Given the description of an element on the screen output the (x, y) to click on. 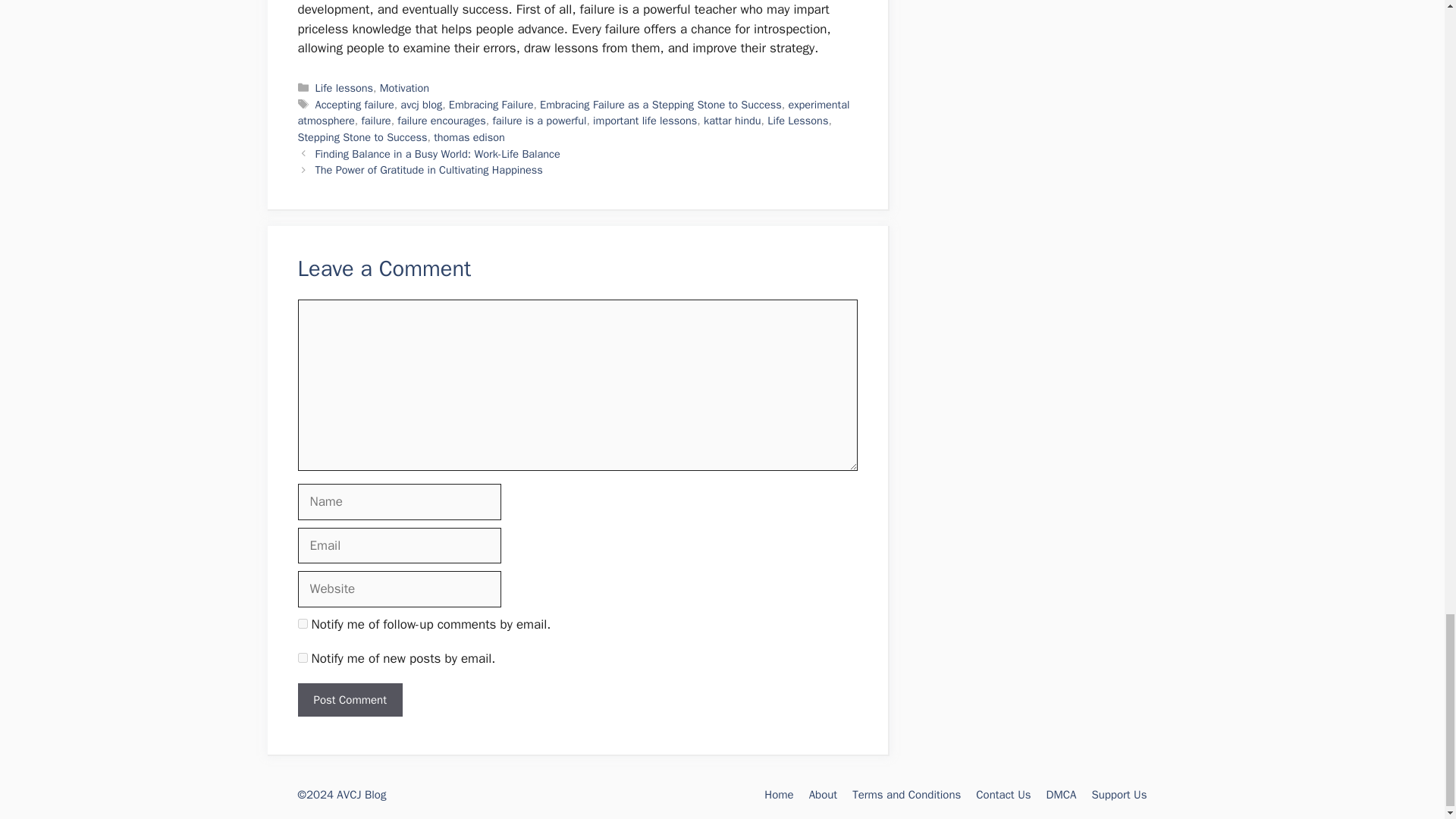
Accepting failure (354, 104)
Post Comment (349, 700)
avcj blog (421, 104)
subscribe (302, 623)
Motivation (404, 88)
Life lessons (343, 88)
Embracing Failure (491, 104)
Embracing Failure as a Stepping Stone to Success (660, 104)
subscribe (302, 657)
